Given the description of an element on the screen output the (x, y) to click on. 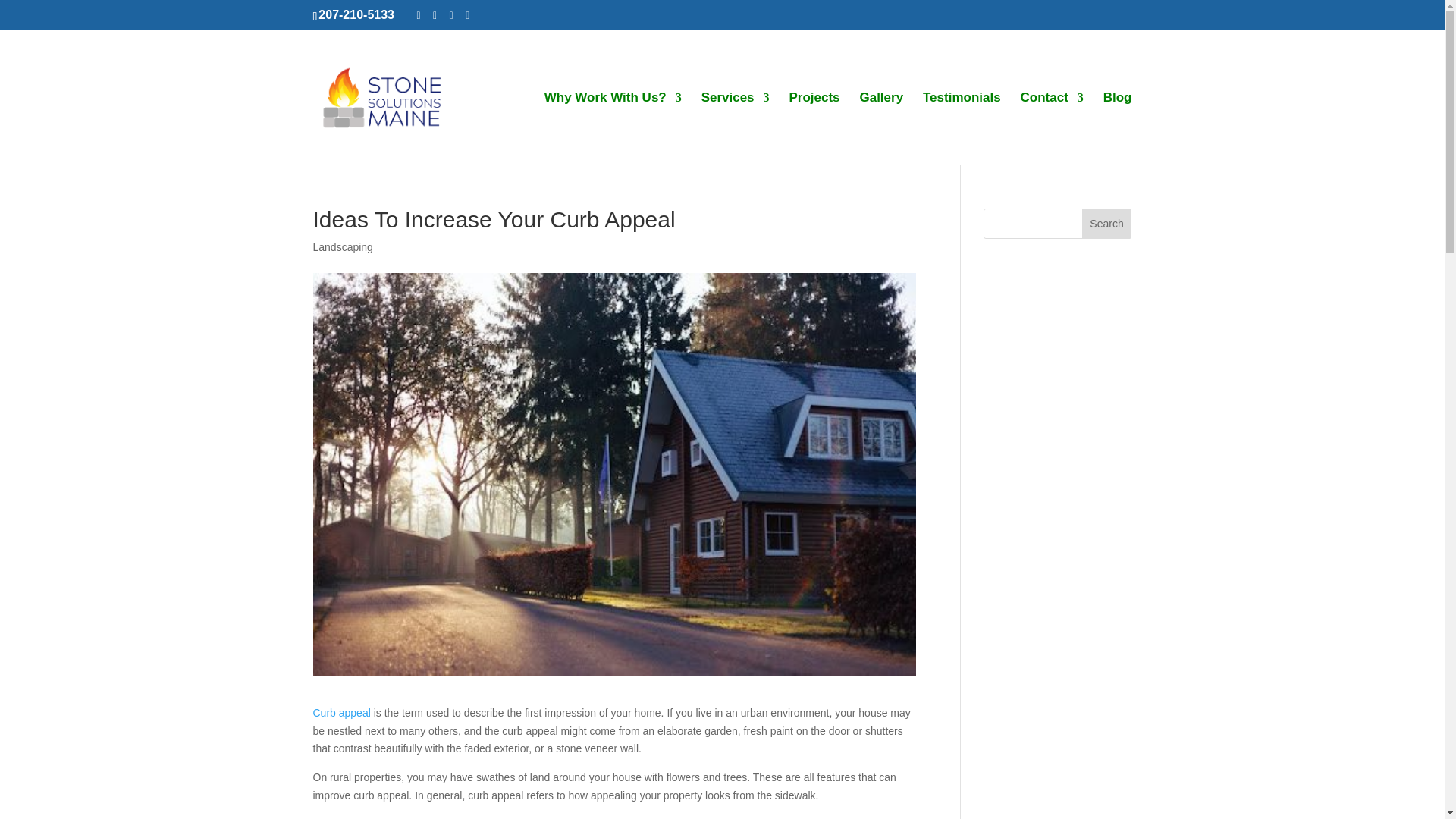
Search (1106, 223)
Services (735, 128)
Testimonials (962, 128)
207-210-5133 (356, 14)
Why Work With Us? (612, 128)
